Given the description of an element on the screen output the (x, y) to click on. 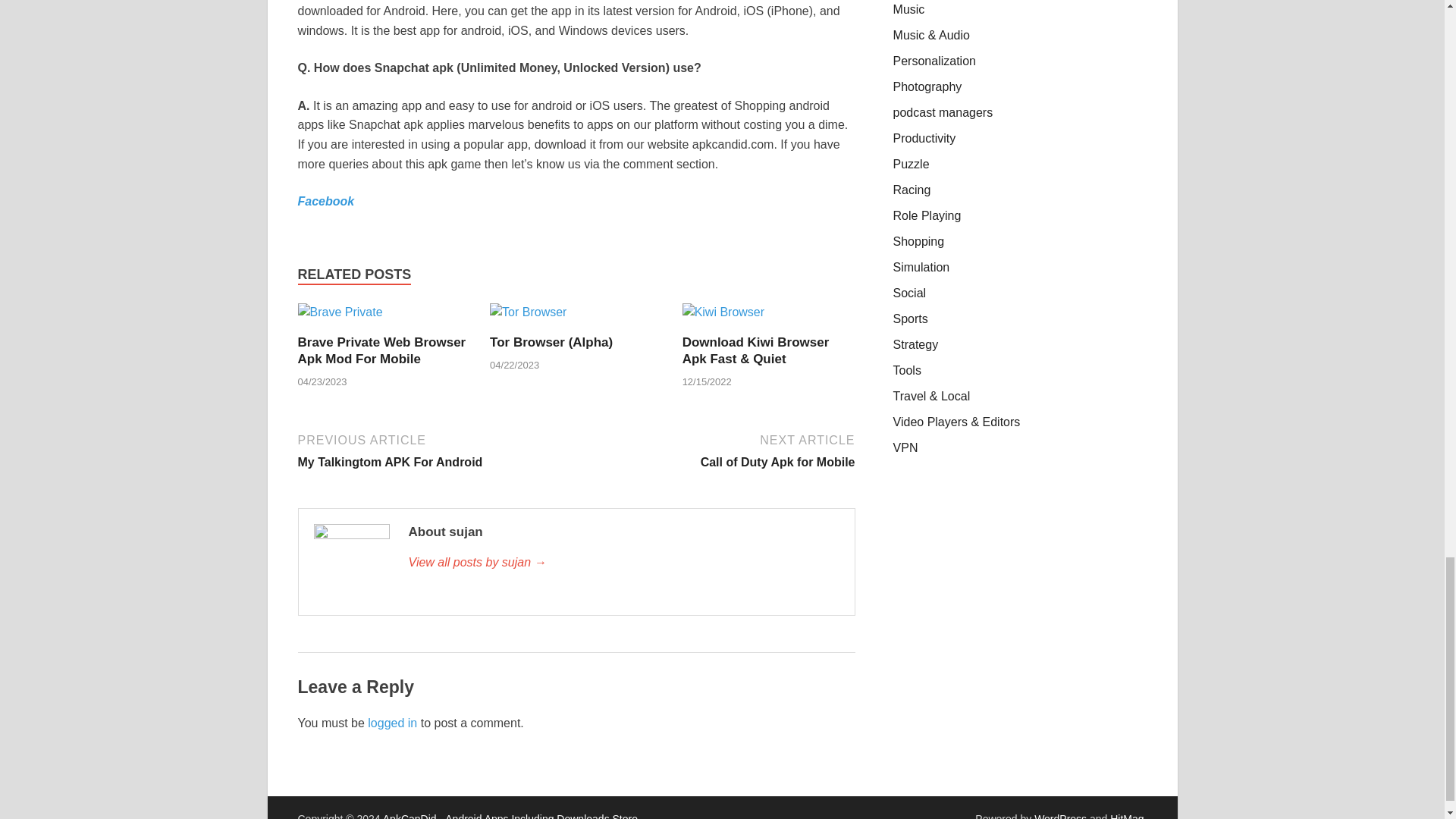
Brave Private Web Browser Apk Mod  For Mobile (381, 350)
sujan (622, 562)
Brave Private Web Browser Apk Mod  For Mobile (339, 318)
